Given the description of an element on the screen output the (x, y) to click on. 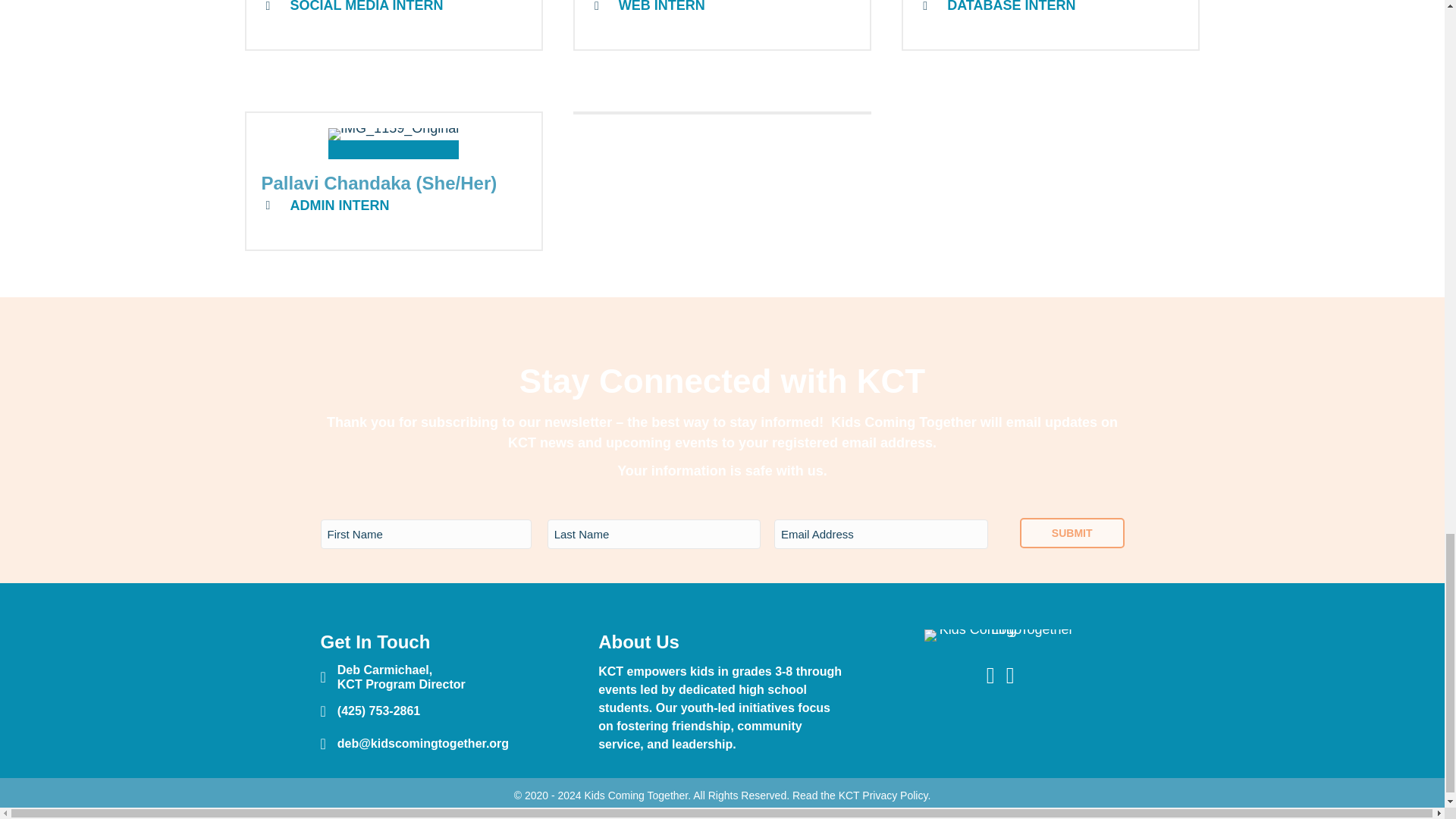
Submit (1072, 532)
Privacy Policy (894, 795)
Submit (1072, 532)
